Given the description of an element on the screen output the (x, y) to click on. 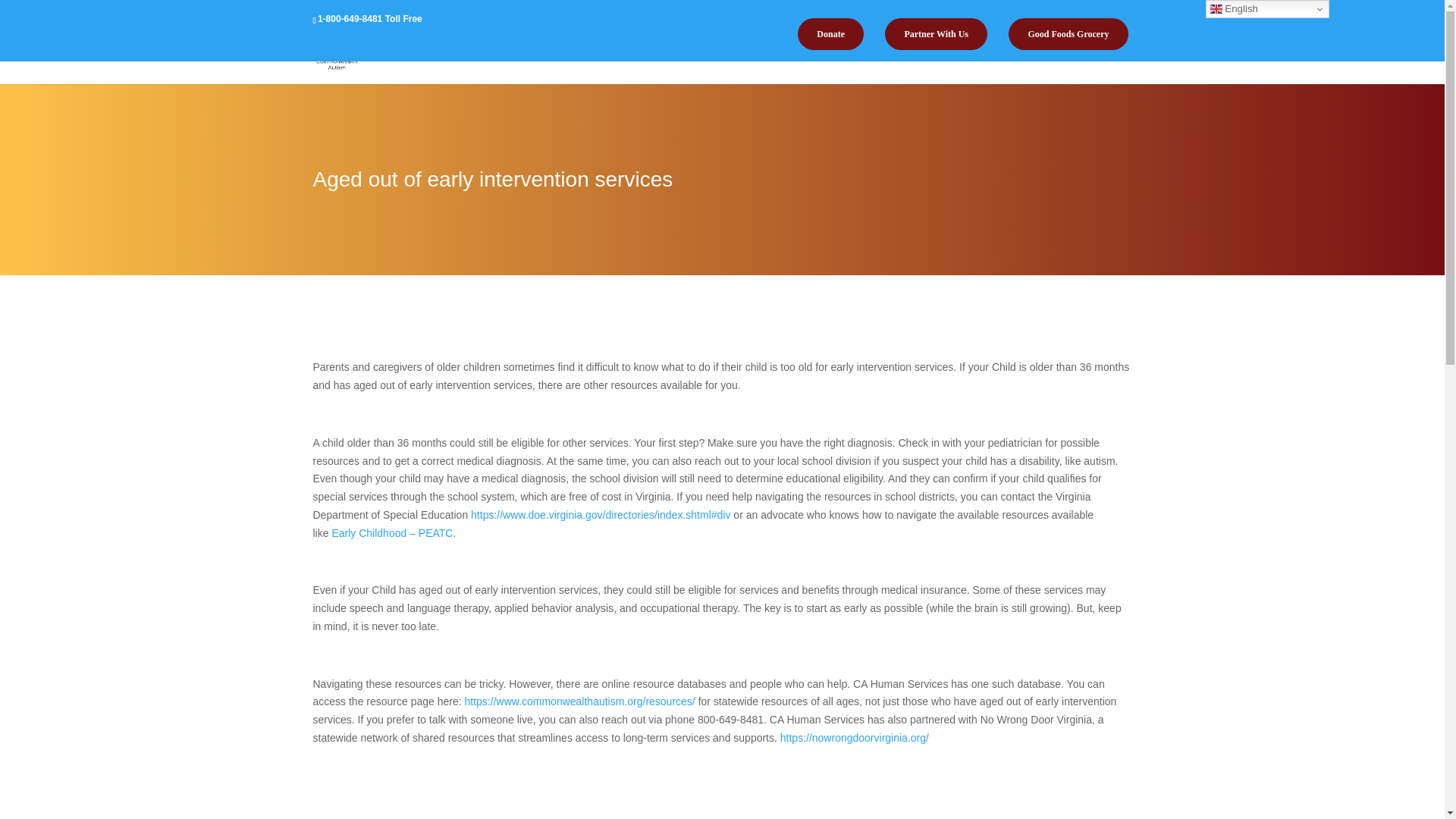
Opportunities (930, 66)
About (671, 66)
Partner With Us (936, 33)
Resources (832, 66)
Good Foods Grocery (1067, 33)
Contact (1080, 66)
Donate (830, 33)
Programs (746, 66)
Events (1017, 66)
